Given the description of an element on the screen output the (x, y) to click on. 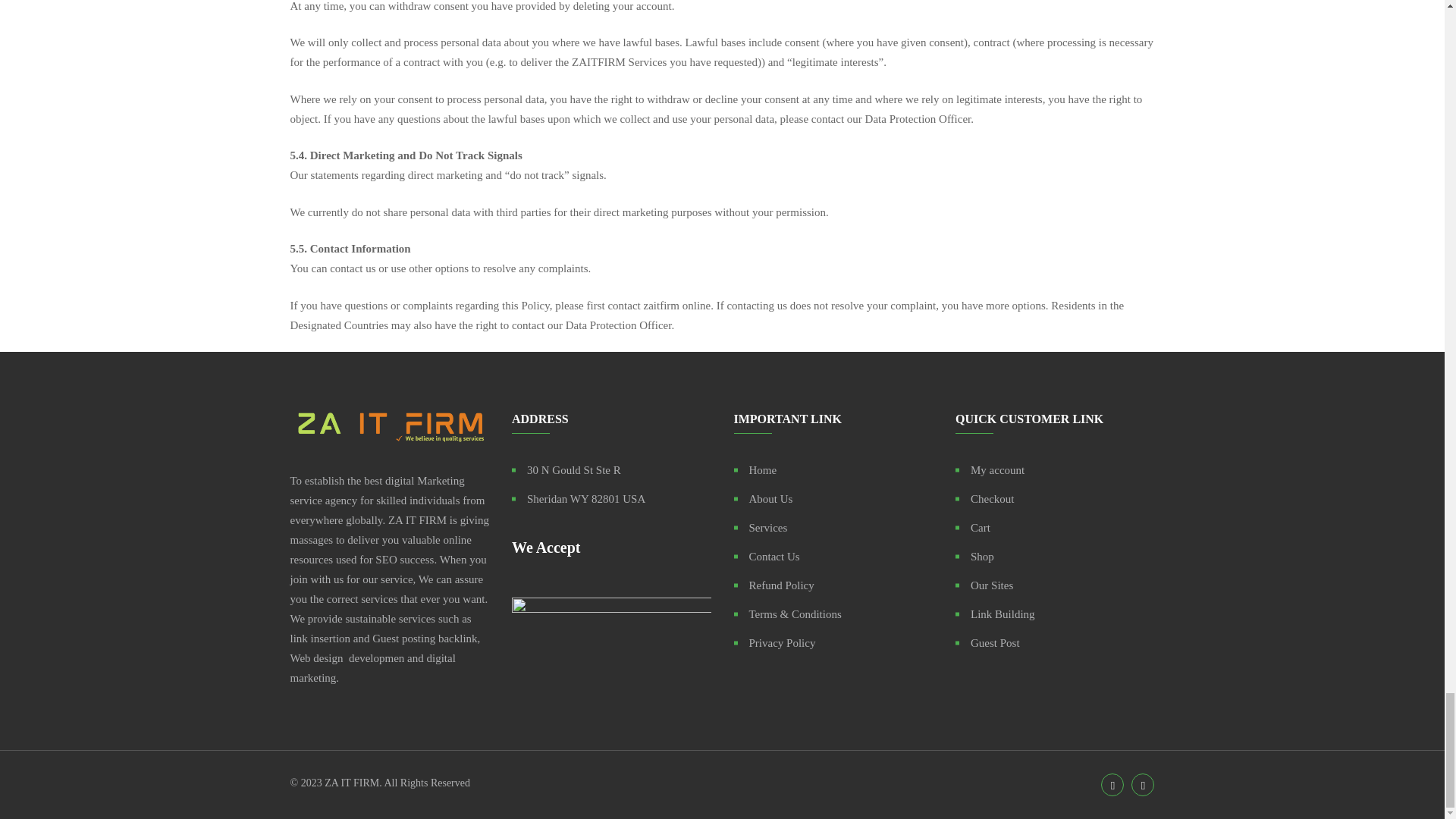
Services (760, 527)
About Us (763, 498)
Guest Post (987, 642)
Home (755, 469)
Shop (974, 556)
Privacy Policy (774, 642)
Cart (972, 527)
Checkout (984, 498)
Contact Us (766, 556)
Link Building (995, 614)
My account (990, 469)
30 N Gould St Ste R (566, 469)
Sheridan WY 82801 USA (578, 498)
Our Sites (984, 585)
Refund Policy (773, 585)
